Given the description of an element on the screen output the (x, y) to click on. 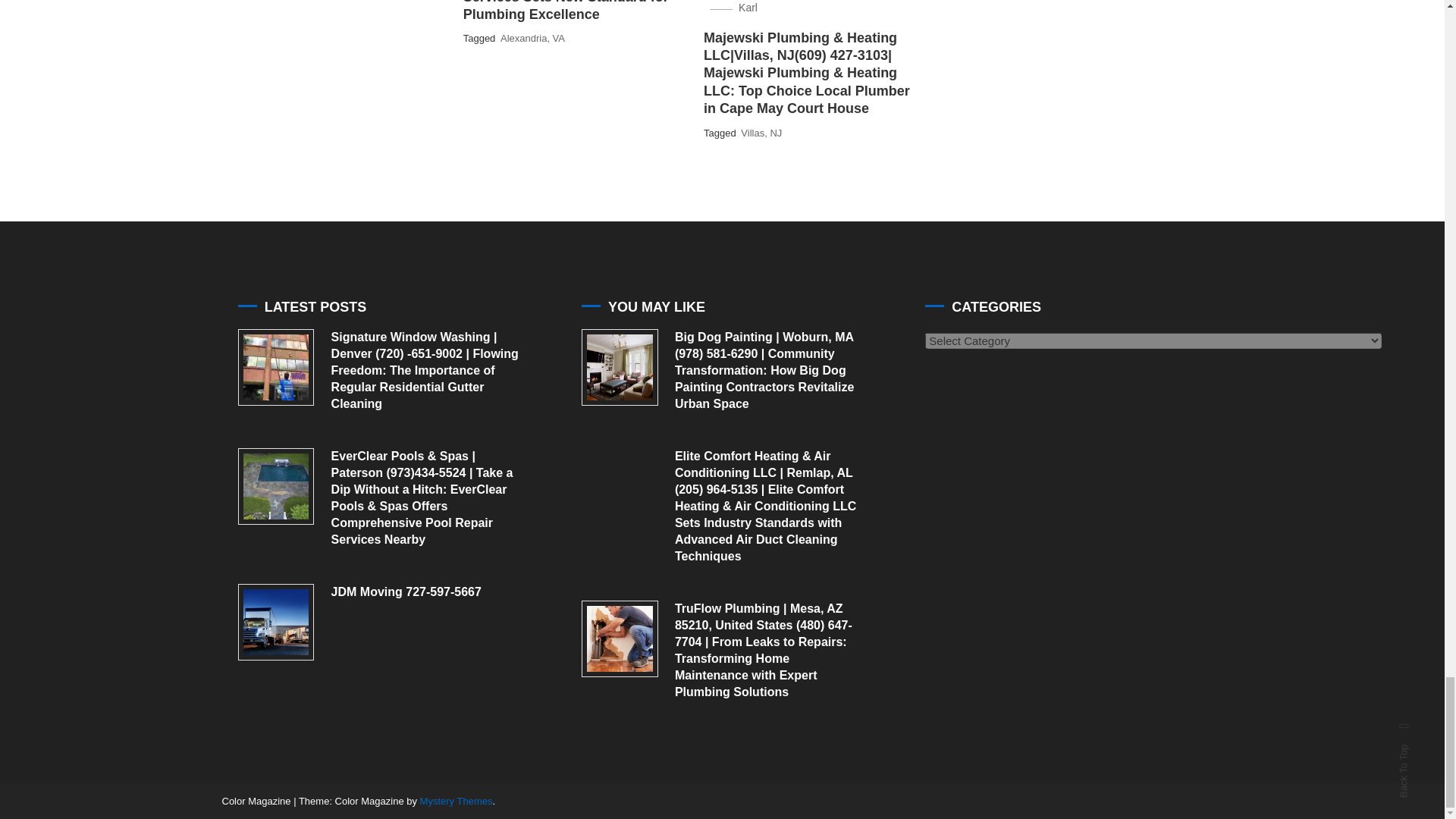
JDM Moving 727-597-5667 (276, 621)
